Given the description of an element on the screen output the (x, y) to click on. 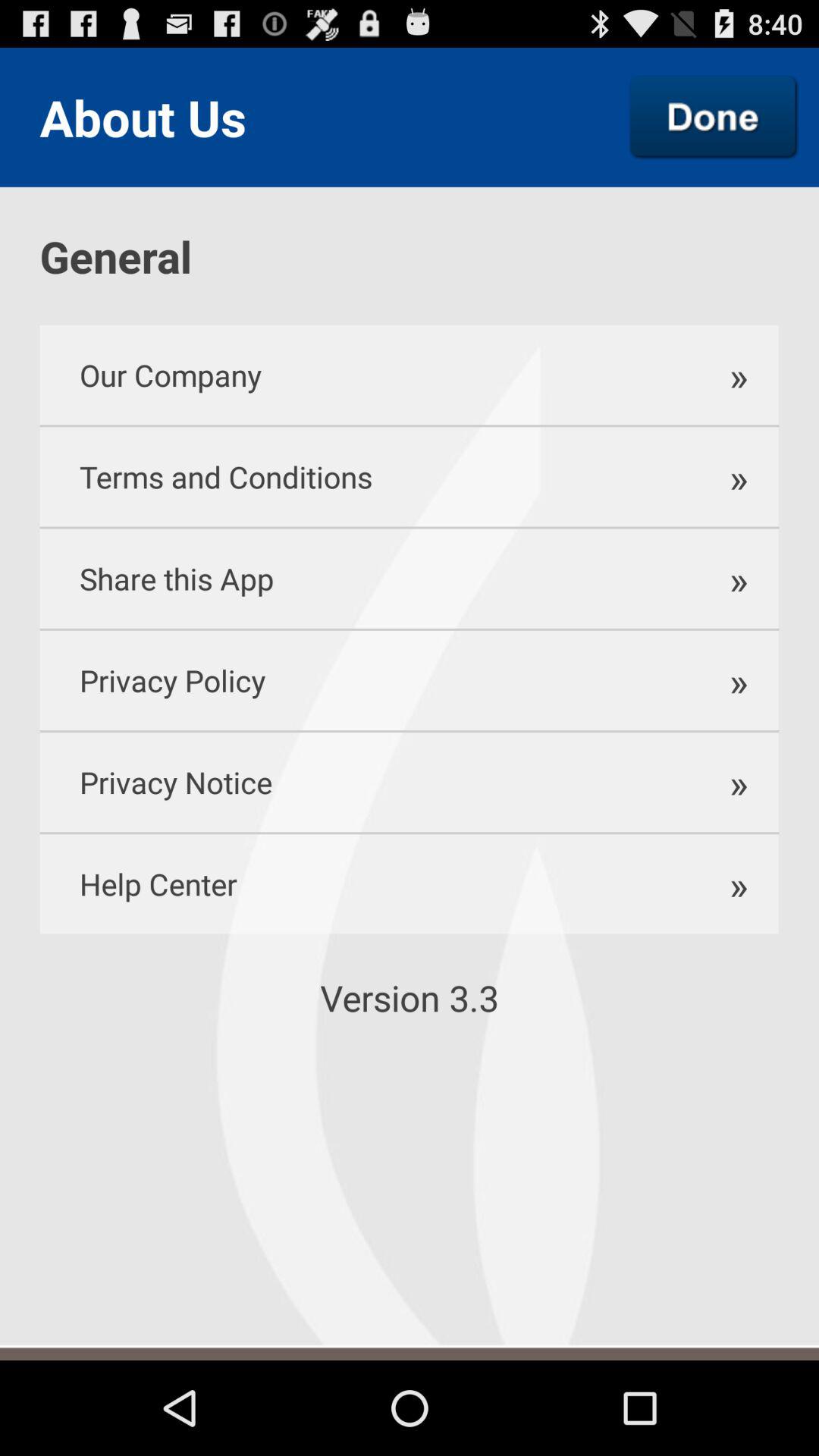
press the share this app item (361, 578)
